Given the description of an element on the screen output the (x, y) to click on. 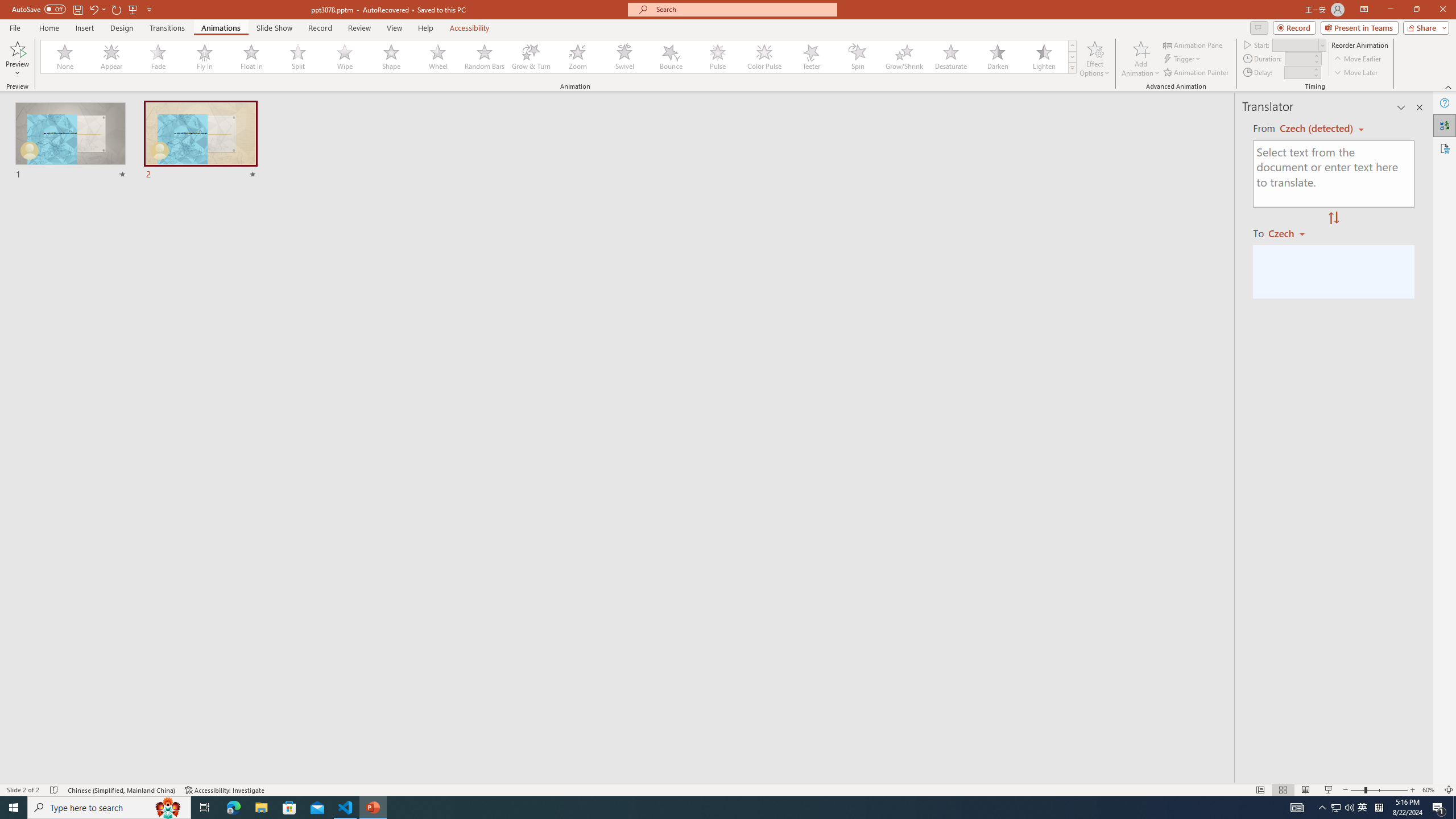
Close pane (1419, 107)
Microsoft search (742, 9)
Pulse (717, 56)
Fly In (205, 56)
Animation Painter (1196, 72)
Slide (200, 141)
